Given the description of an element on the screen output the (x, y) to click on. 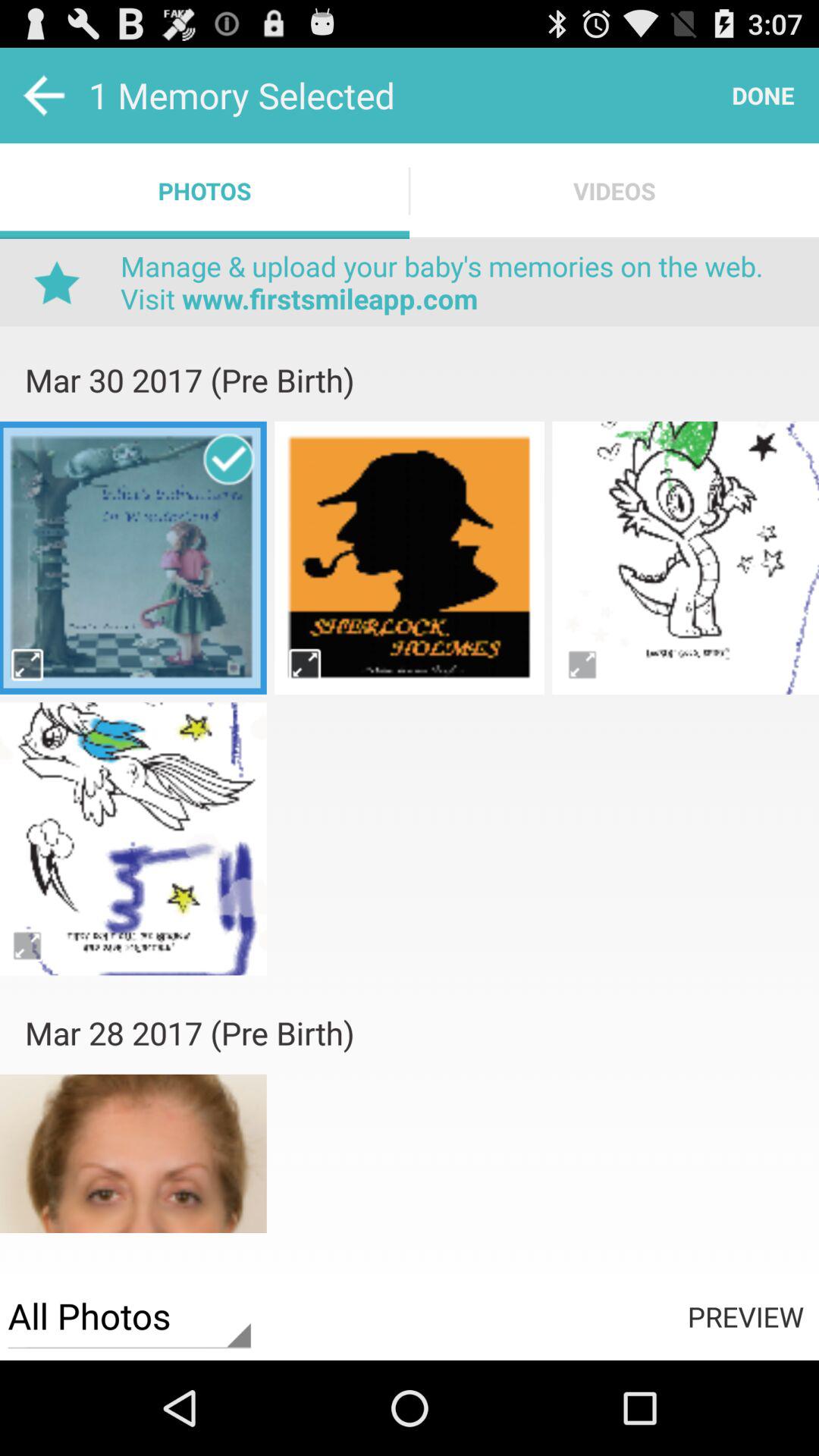
photos (133, 1169)
